Given the description of an element on the screen output the (x, y) to click on. 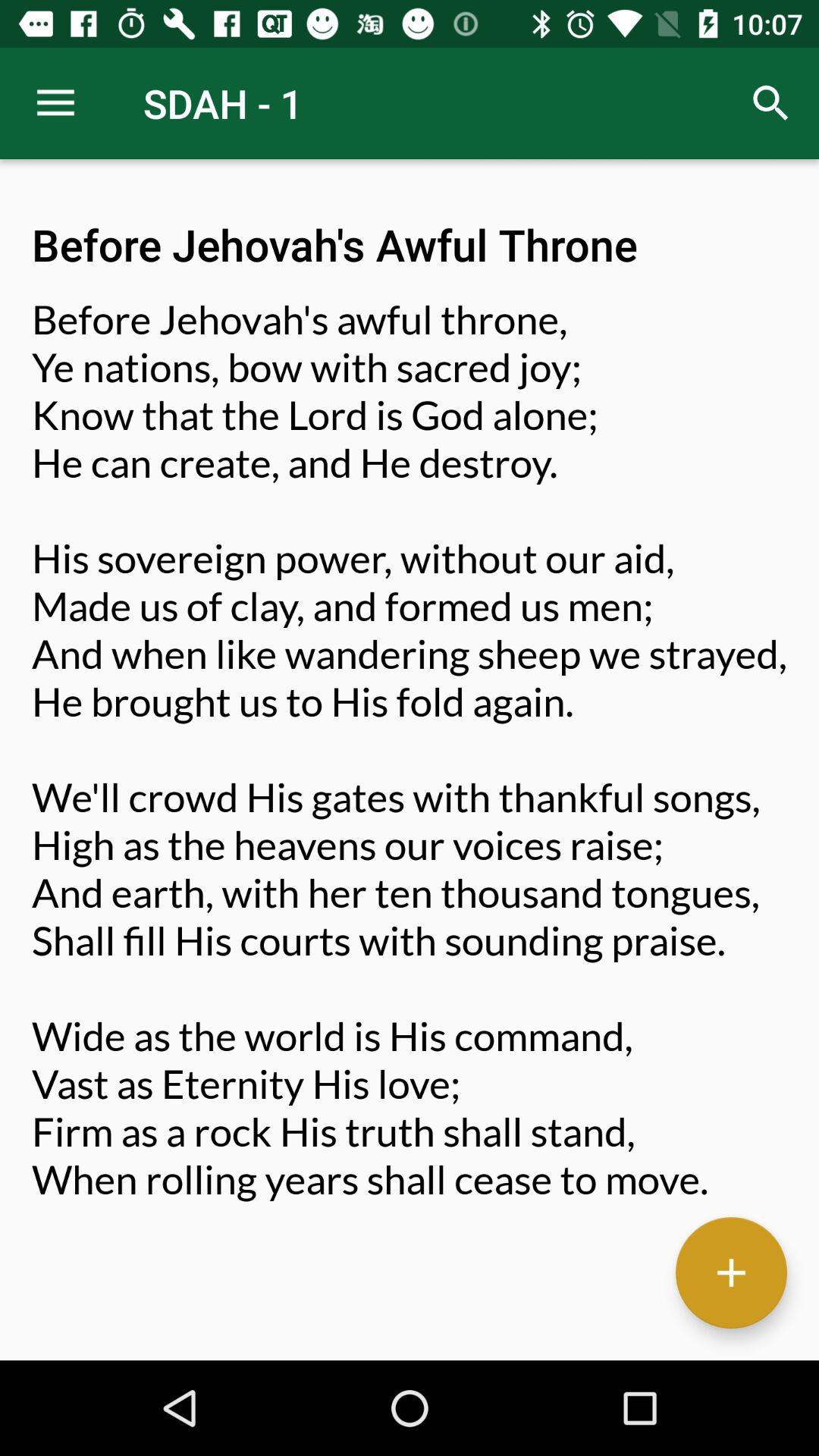
press the icon above the before jehovah s (771, 103)
